Given the description of an element on the screen output the (x, y) to click on. 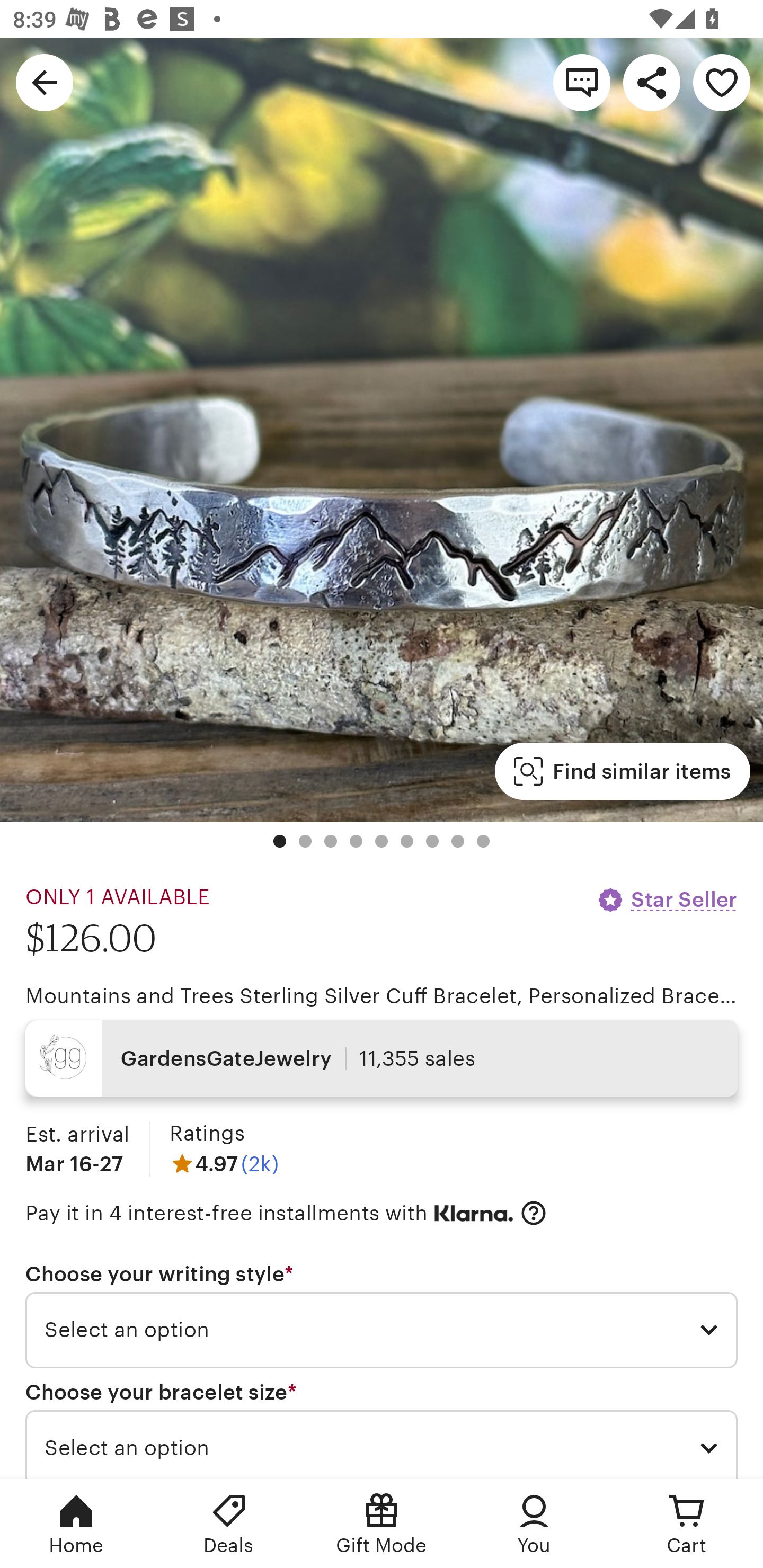
Navigate up (44, 81)
Contact shop (581, 81)
Share (651, 81)
Find similar items (622, 771)
Star Seller (666, 899)
GardensGateJewelry 11,355 sales (381, 1058)
Ratings (206, 1133)
4.97 (2k) (223, 1163)
Select an option (381, 1330)
Select an option (381, 1443)
Deals (228, 1523)
Gift Mode (381, 1523)
You (533, 1523)
Cart (686, 1523)
